Given the description of an element on the screen output the (x, y) to click on. 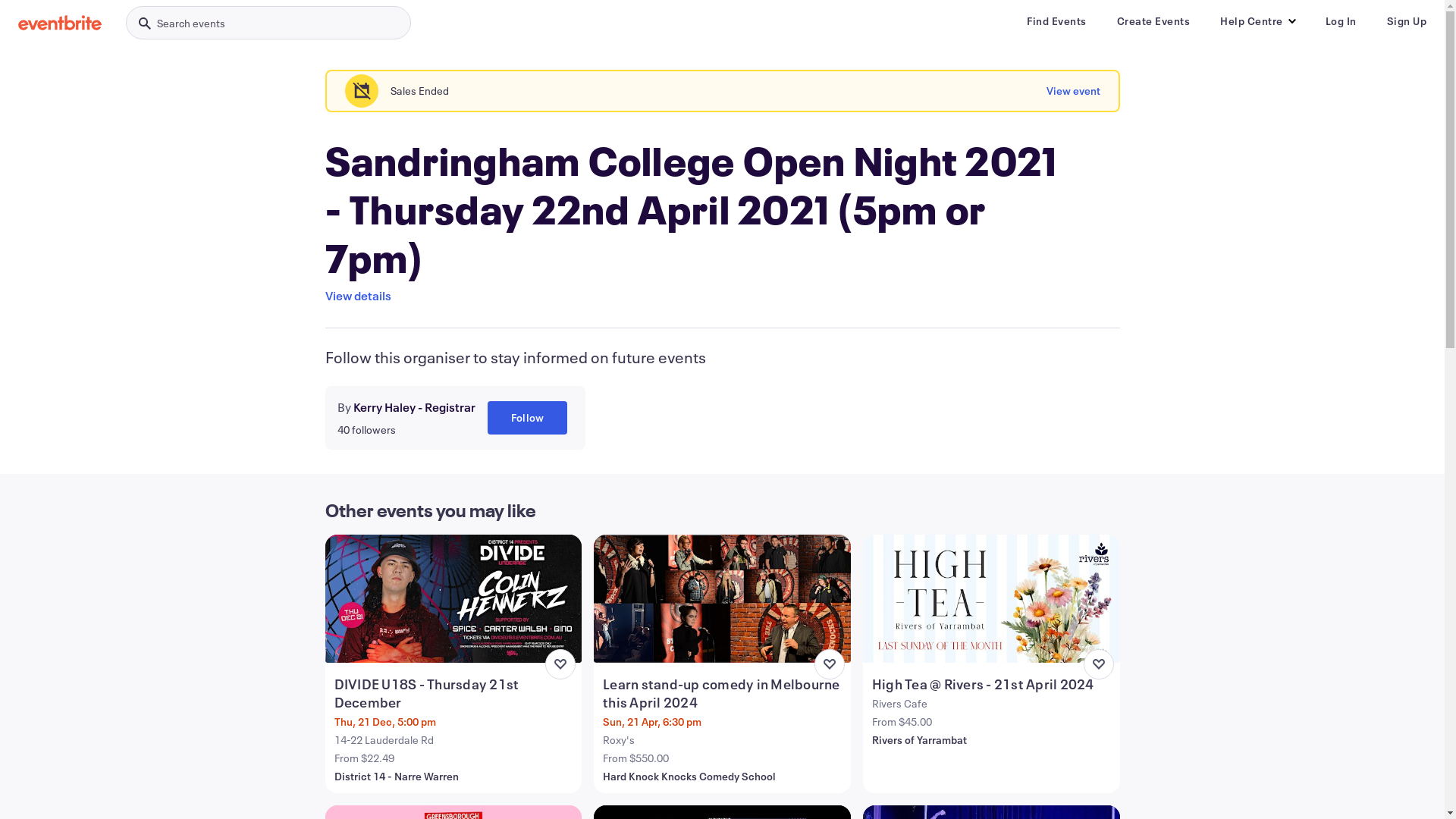
High Tea @ Rivers - 21st April 2024 Element type: text (992, 683)
DIVIDE U18S - Thursday 21st December Element type: text (454, 692)
View event Element type: text (1073, 90)
Log In Element type: text (1340, 21)
Follow Element type: text (526, 417)
Learn stand-up comedy in Melbourne this April 2024 Element type: text (723, 692)
View details Element type: text (357, 295)
Sign Up Element type: text (1406, 21)
Create Events Element type: text (1152, 21)
Find Events Element type: text (1056, 21)
Search events Element type: text (268, 22)
Eventbrite Element type: hover (59, 22)
